Given the description of an element on the screen output the (x, y) to click on. 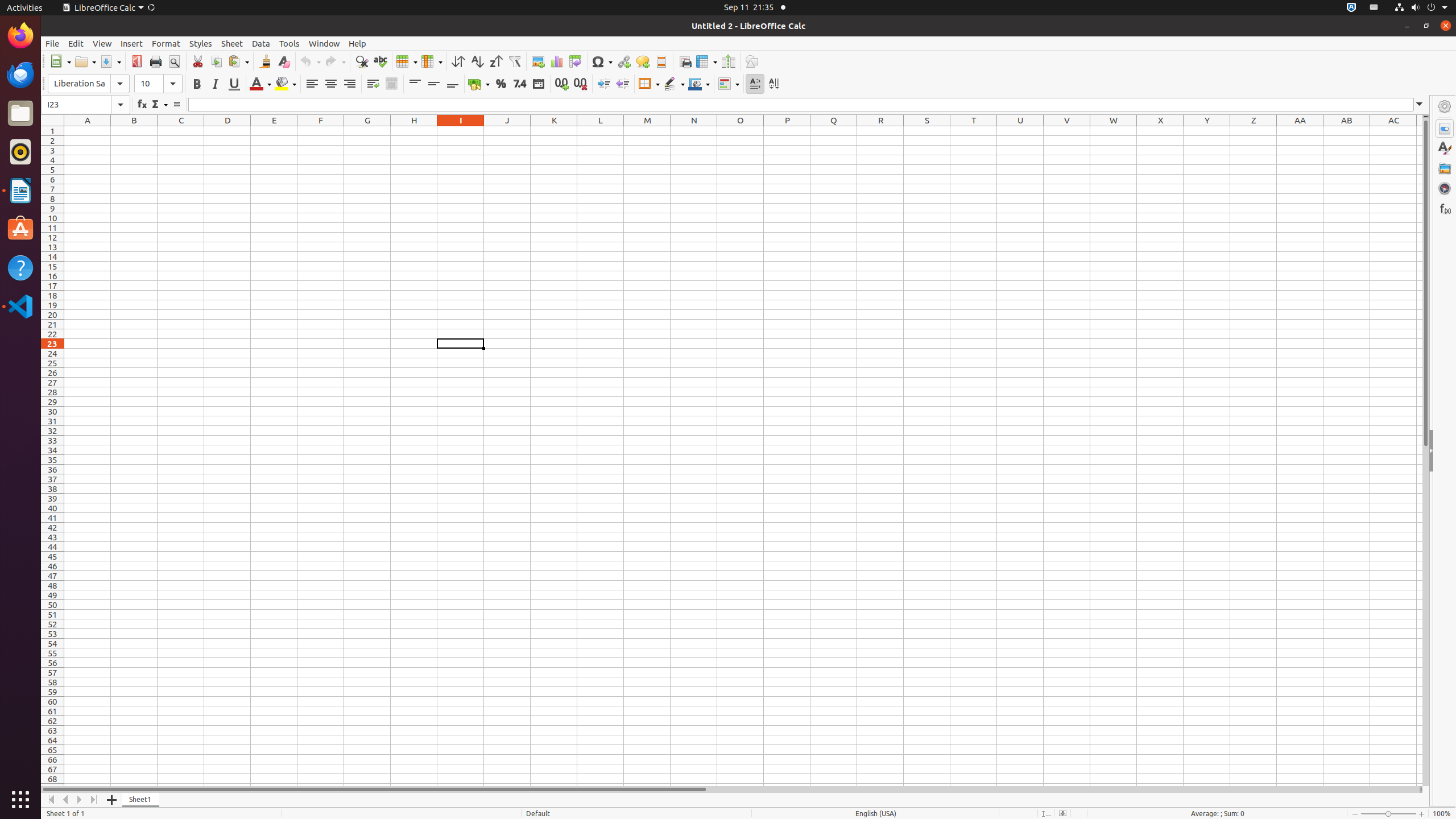
Input line Element type: text (807, 104)
Redo Element type: push-button (334, 61)
Move To End Element type: push-button (94, 799)
Formula Element type: push-button (176, 104)
Styles Element type: menu (200, 43)
